Given the description of an element on the screen output the (x, y) to click on. 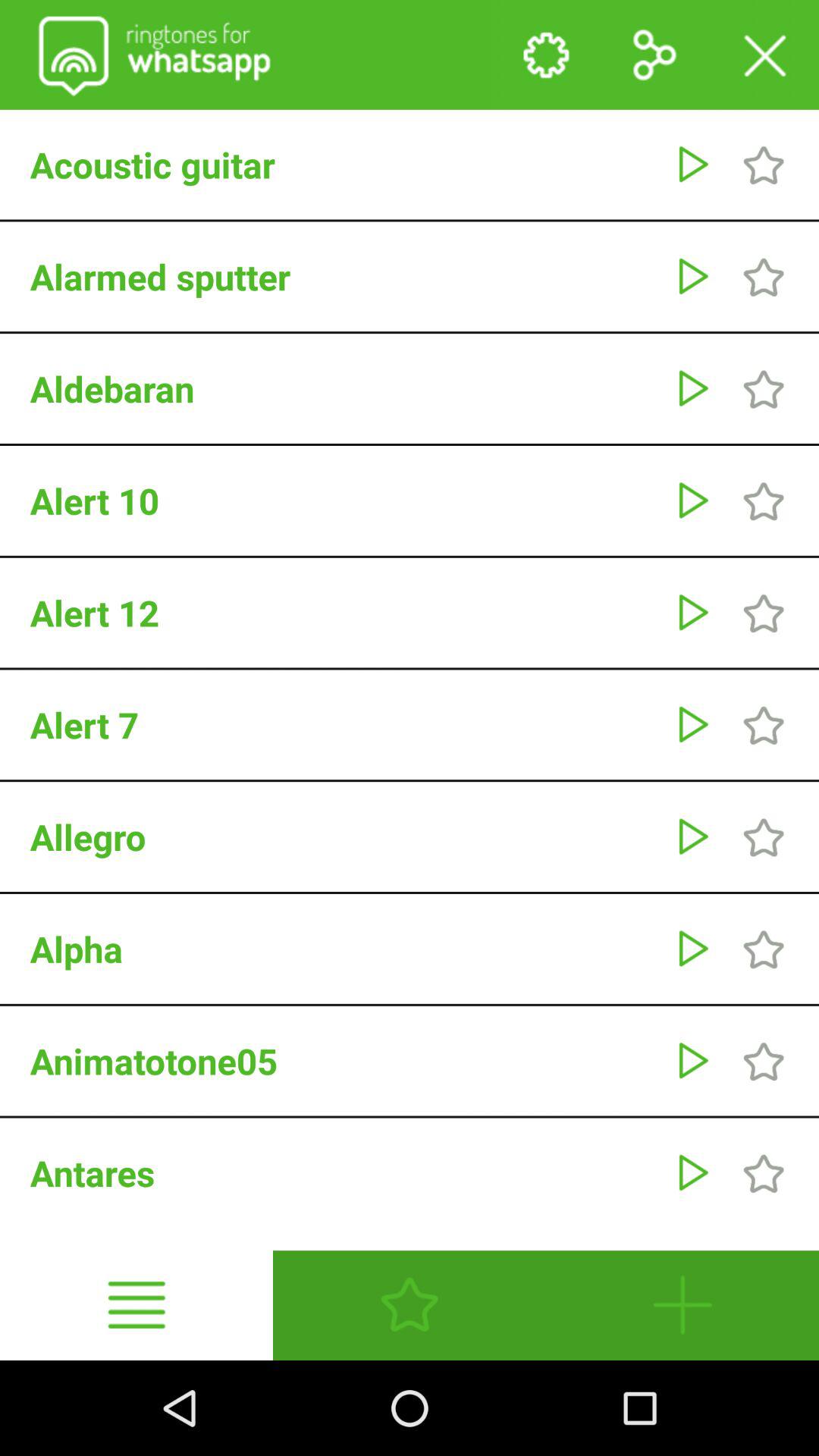
turn off the alarmed sputter (344, 276)
